Given the description of an element on the screen output the (x, y) to click on. 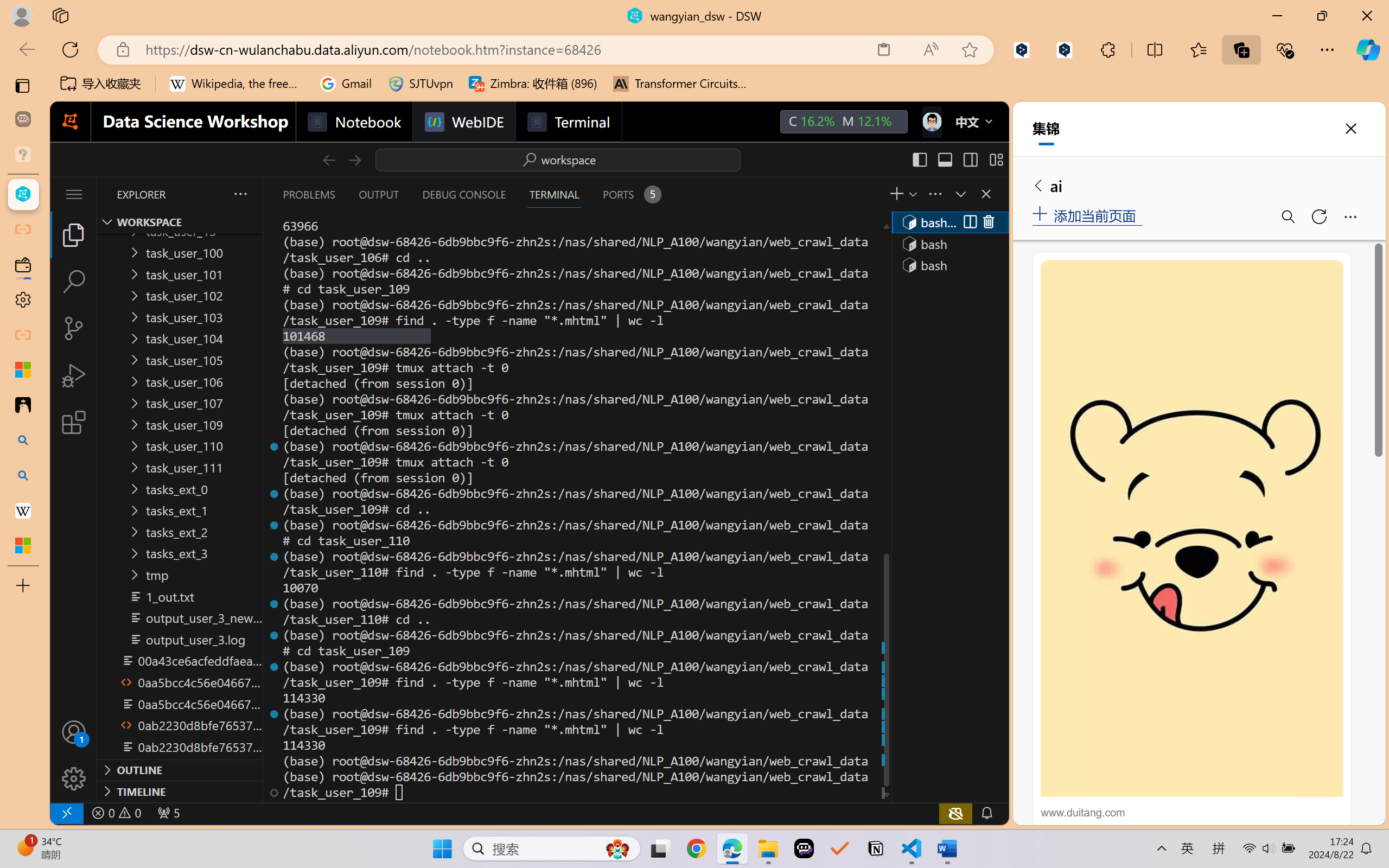
Notifications (986, 812)
Output (Ctrl+Shift+U) (377, 194)
Close Panel (986, 193)
Class: xterm-decoration-overview-ruler (885, 508)
icon (930, 121)
wangyian_dsw - DSW (22, 194)
SJTUvpn (419, 83)
Explorer (Ctrl+Shift+E) (73, 234)
Problems (Ctrl+Shift+M) (308, 194)
remote (66, 812)
Class: next-menu next-hoz widgets--iconMenu--BFkiHRM (930, 121)
